Given the description of an element on the screen output the (x, y) to click on. 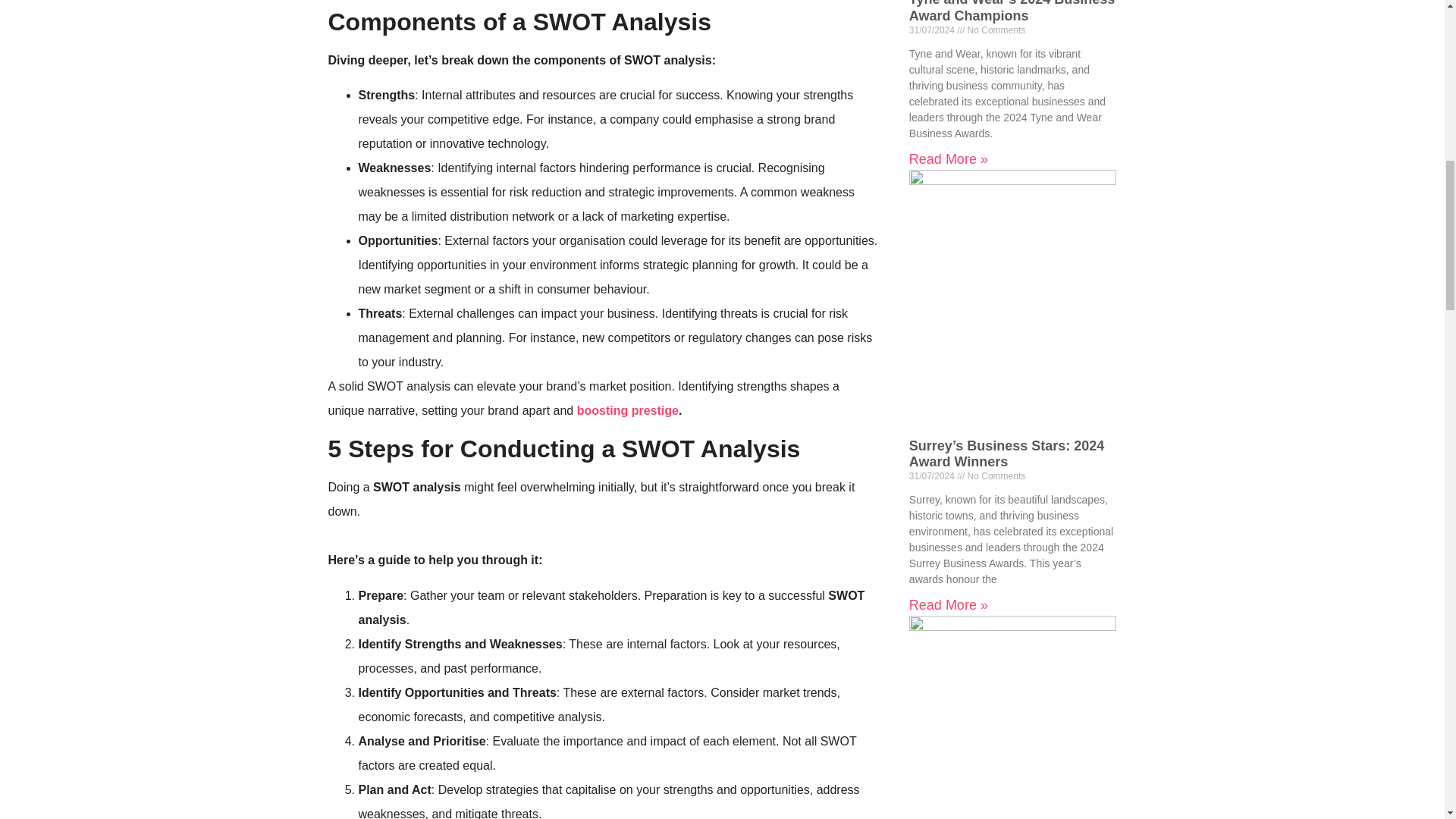
boosting prestige (627, 410)
